Given the description of an element on the screen output the (x, y) to click on. 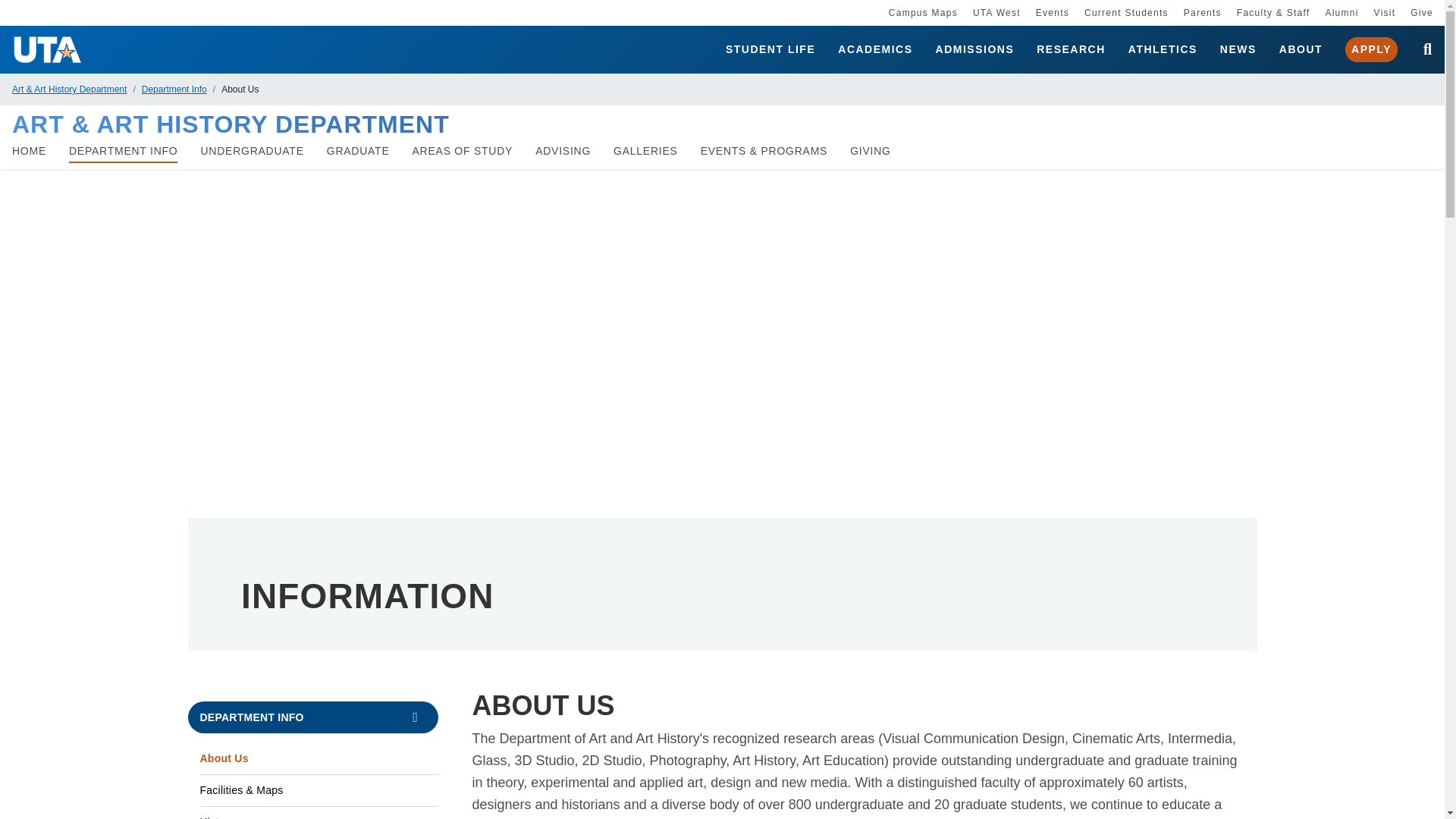
Events (1051, 12)
STUDENT LIFE (770, 49)
Parents (1202, 12)
Campus maps (923, 12)
Campus Maps (923, 12)
Alumni (1341, 12)
ACADEMICS (875, 49)
Alumni (1341, 12)
Current Students (1126, 12)
U T A West (996, 12)
